Given the description of an element on the screen output the (x, y) to click on. 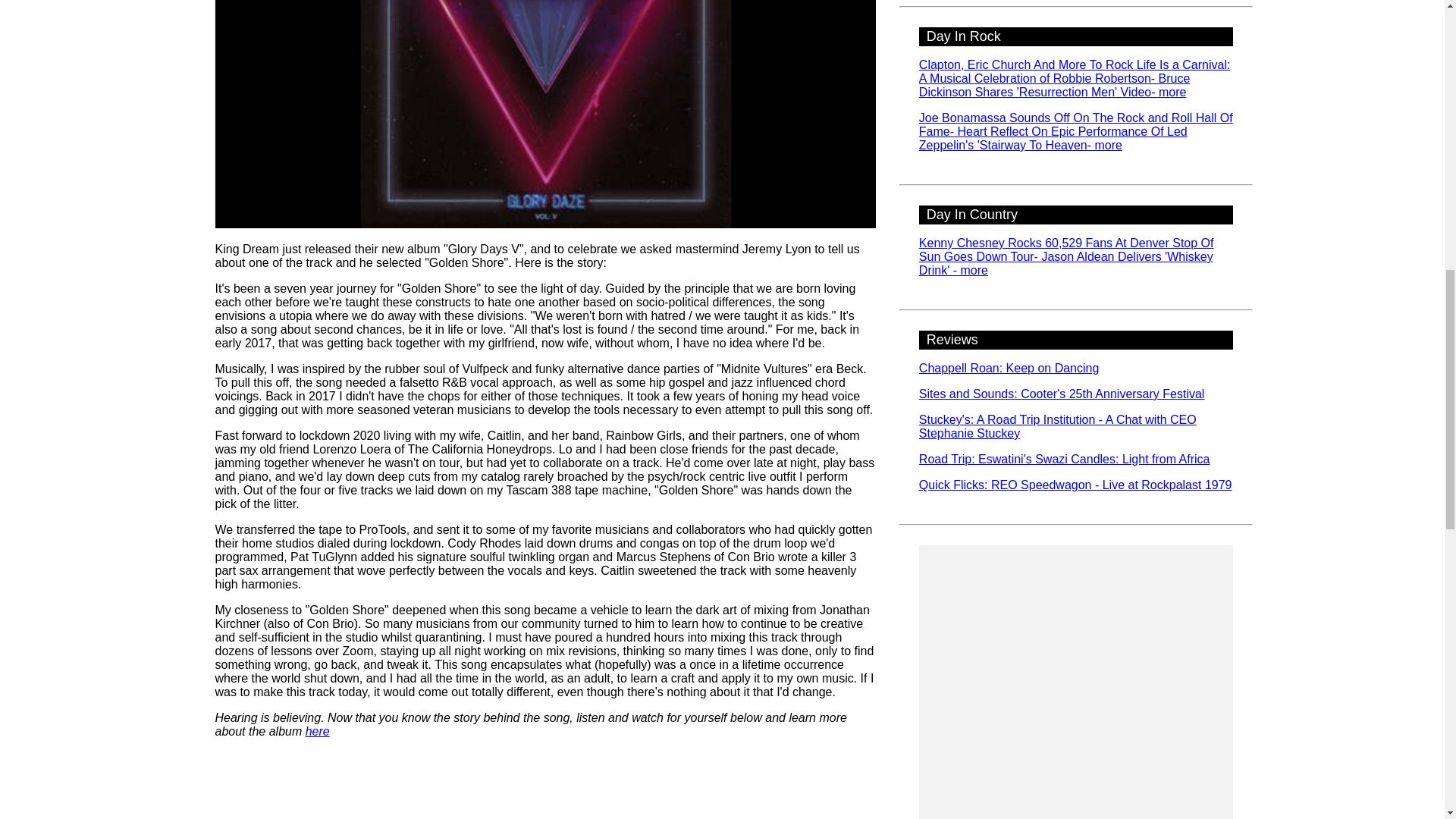
Road Trip: Eswatini's Swazi Candles: Light from Africa (1063, 459)
here (317, 730)
Chappell Roan: Keep on Dancing (1008, 367)
Sites and Sounds: Cooter's 25th Anniversary Festival (1061, 393)
Quick Flicks: REO Speedwagon - Live at Rockpalast 1979 (1074, 484)
YouTube video player (545, 785)
